Given the description of an element on the screen output the (x, y) to click on. 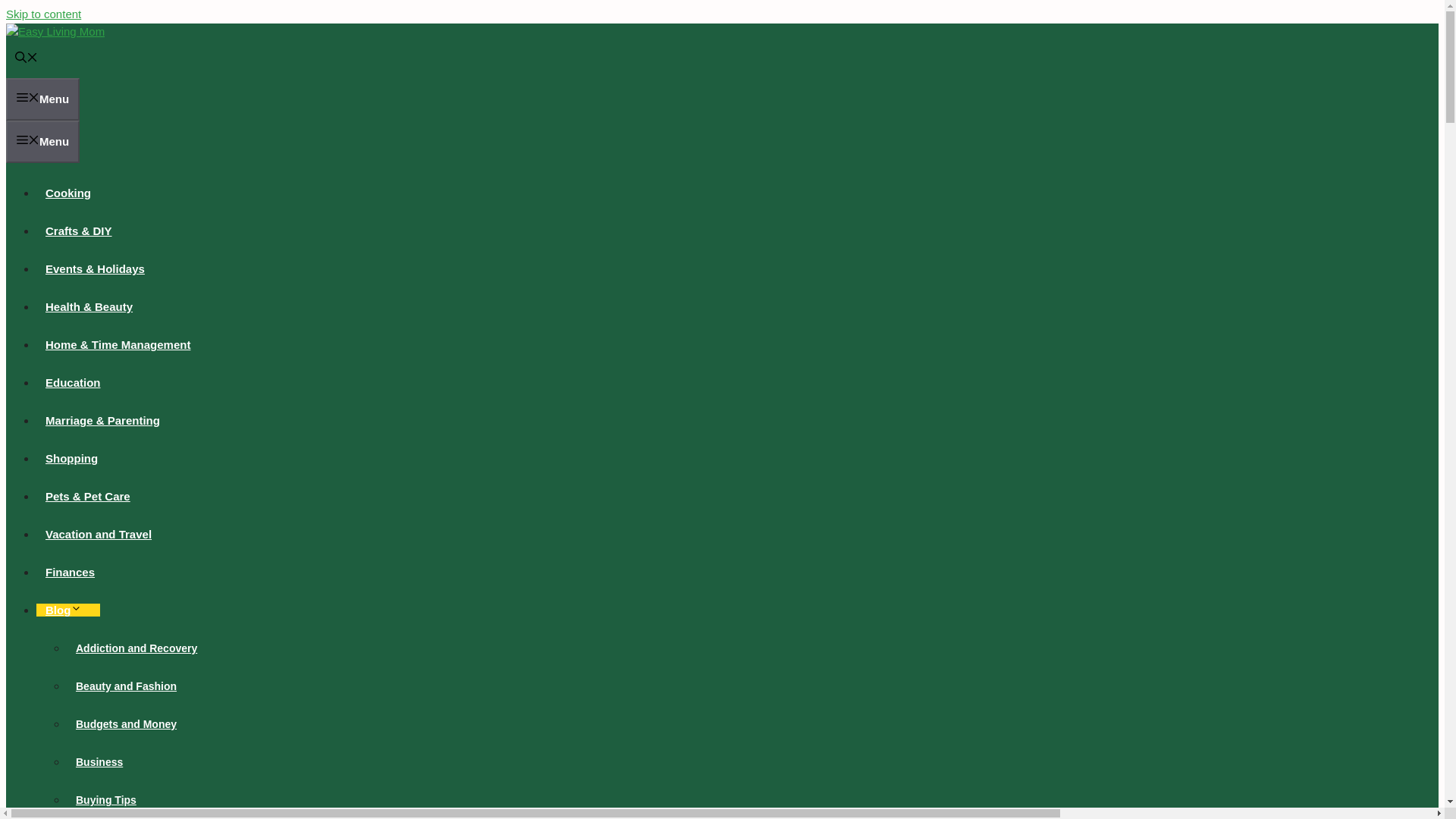
Budgets and Money (126, 723)
Finances (69, 571)
Business (99, 761)
Menu (42, 141)
Skip to content (43, 13)
Addiction and Recovery (136, 647)
Beauty and Fashion (126, 686)
Menu (42, 98)
Shopping (71, 458)
Buying Tips (105, 800)
